Given the description of an element on the screen output the (x, y) to click on. 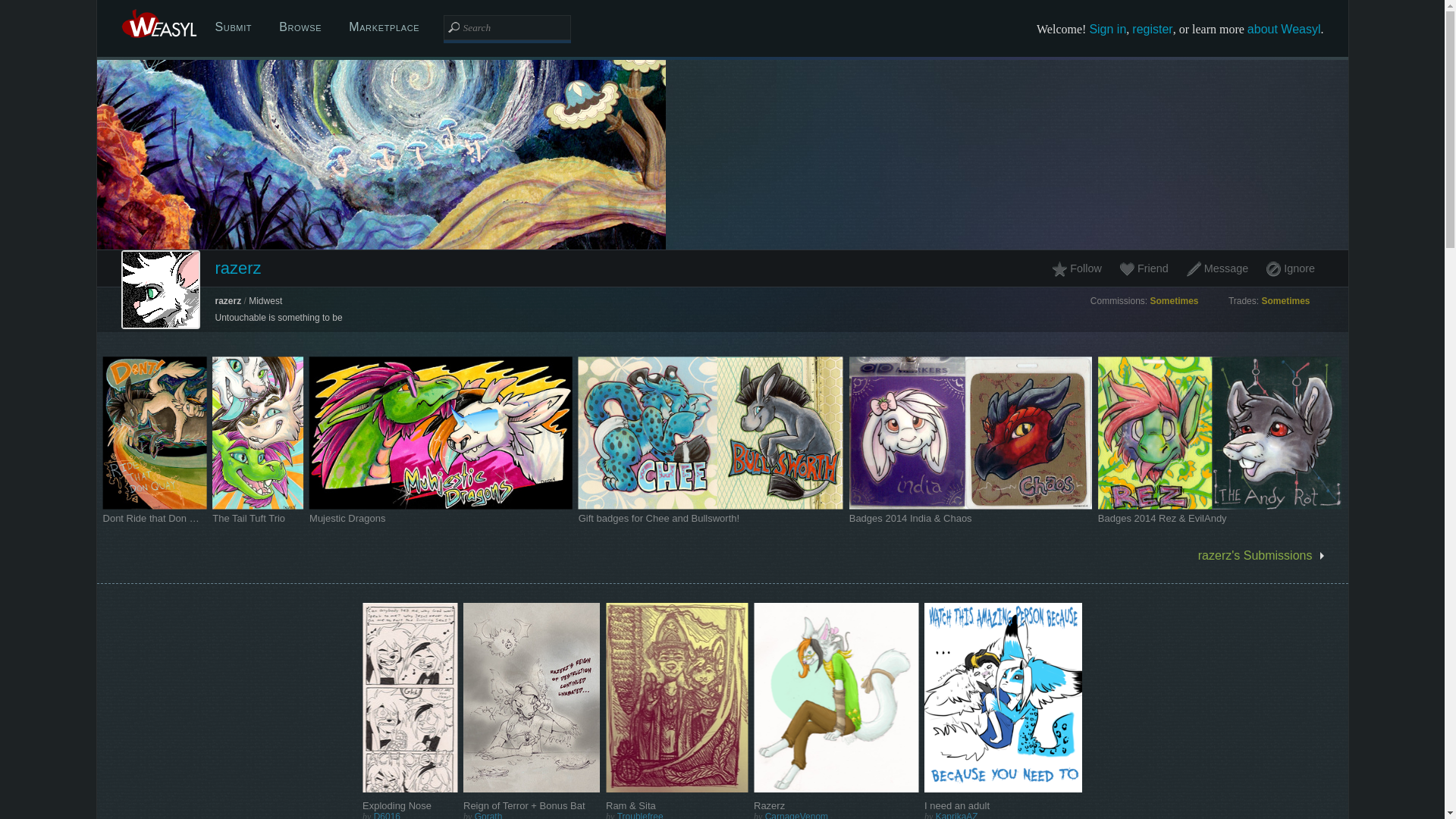
Friend (1142, 268)
Dont Ride that Don Quay (154, 518)
The Tail Tuft Trio (257, 518)
Browse (299, 27)
Search Weasyl (507, 27)
Submit (233, 27)
by Gorath (531, 815)
Mujestic Dragons (440, 518)
Ignore (1290, 268)
Gift badges for Chee and Bullsworth! (710, 518)
Message (1216, 268)
about Weasyl (1283, 29)
Gift badges for Chee and Bullsworth! (658, 518)
Exploding Nose (409, 805)
Sign in (1107, 29)
